Given the description of an element on the screen output the (x, y) to click on. 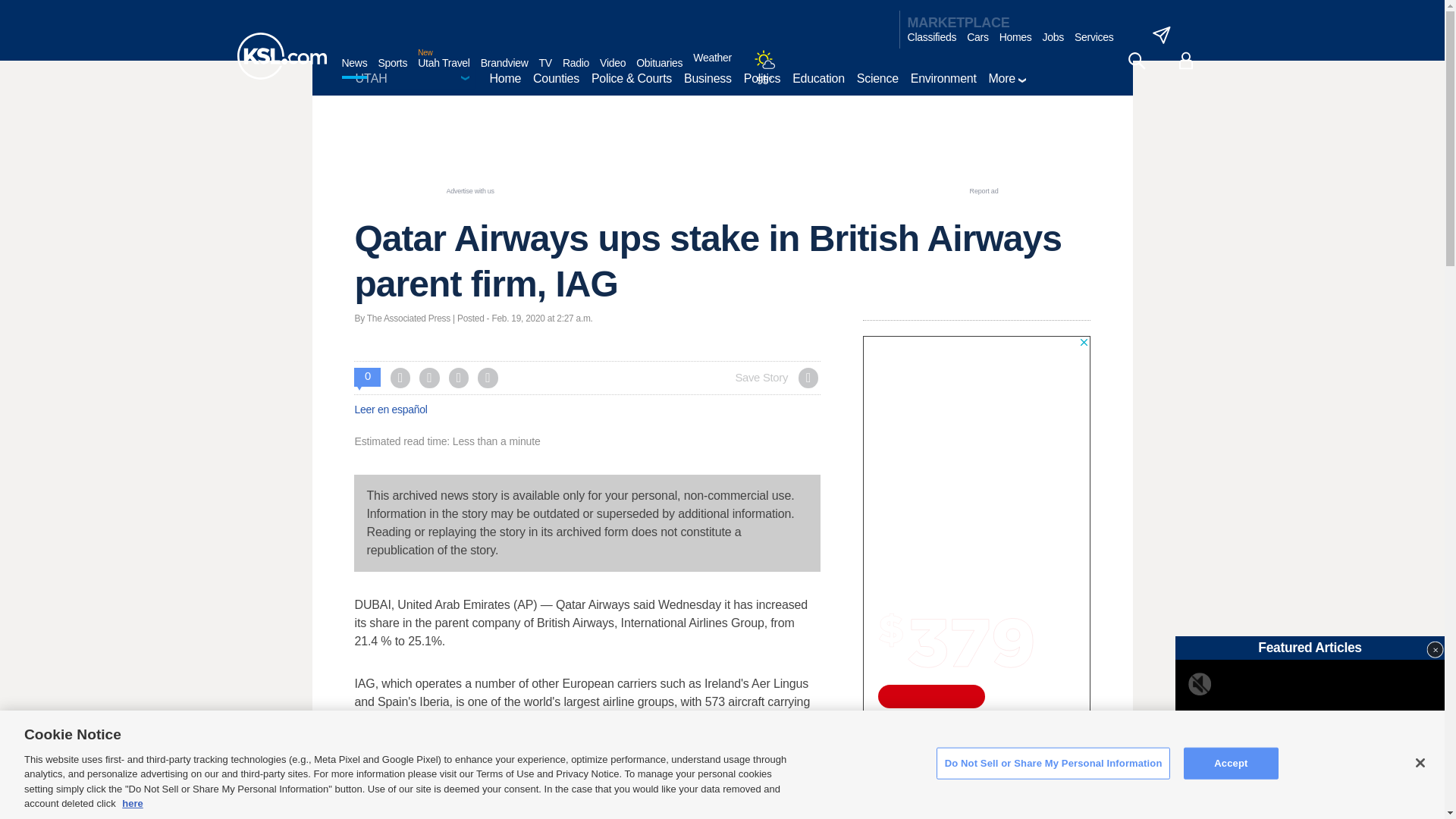
search (1135, 60)
3rd party ad content (721, 151)
account - logged out (1185, 60)
KSL homepage (280, 55)
